Given the description of an element on the screen output the (x, y) to click on. 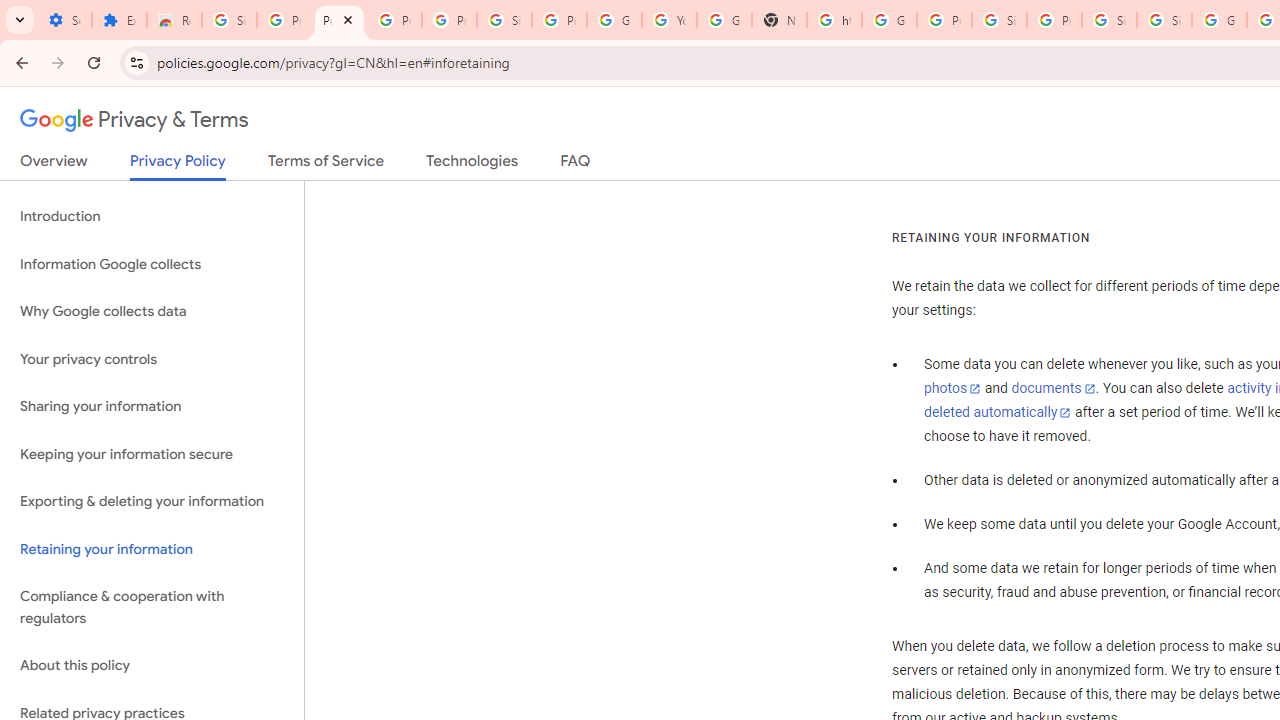
photos (952, 389)
Information Google collects (152, 263)
Sign in - Google Accounts (229, 20)
